Given the description of an element on the screen output the (x, y) to click on. 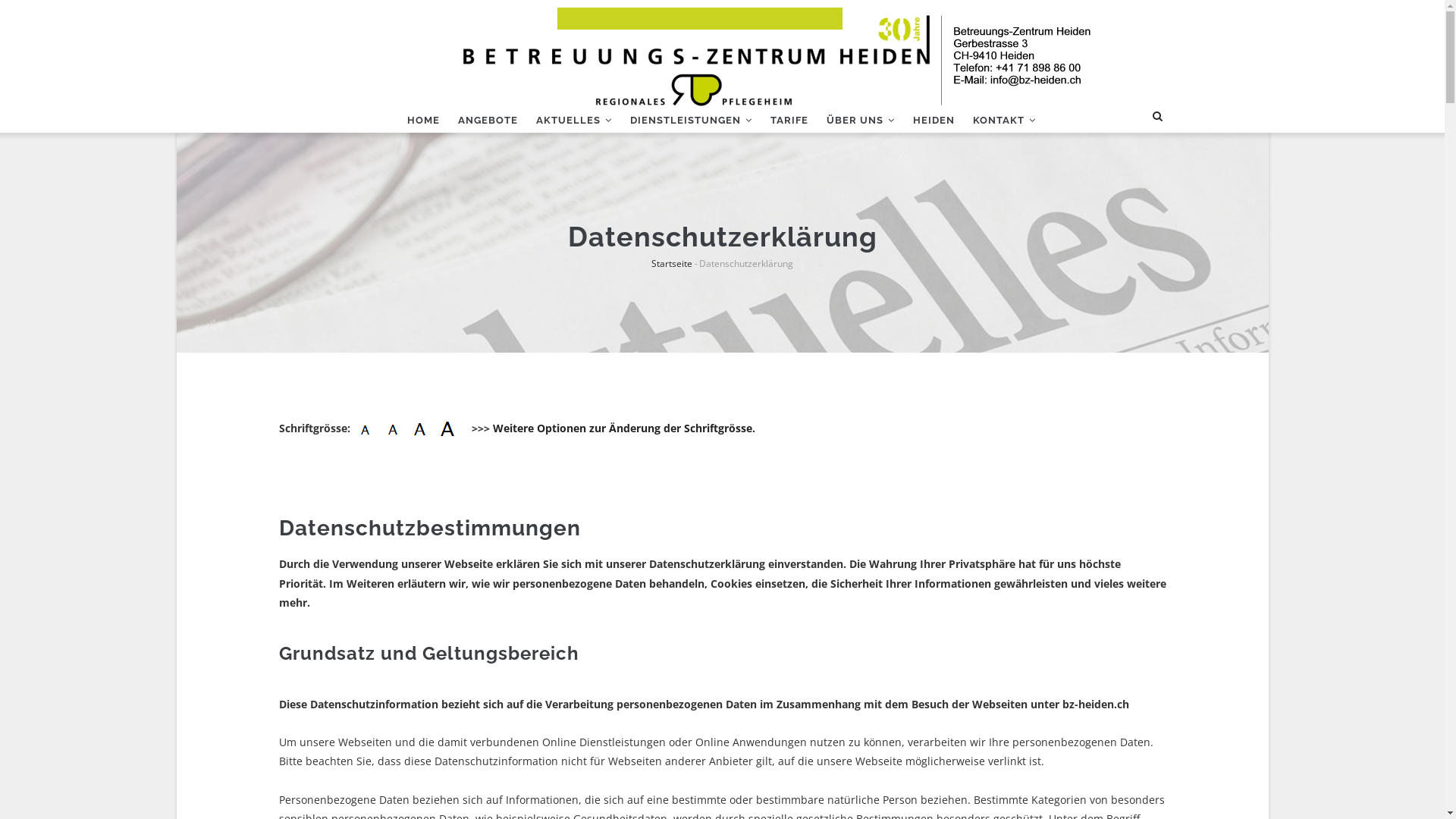
HOME Element type: text (422, 120)
DIENSTLEISTUNGEN Element type: text (690, 120)
ANGEBOTE Element type: text (487, 120)
Skip to main content Element type: text (175, 0)
TARIFE Element type: text (789, 120)
AKTUELLES Element type: text (573, 120)
Startseite Element type: text (671, 263)
KONTAKT Element type: text (1003, 120)
HEIDEN Element type: text (933, 120)
